Given the description of an element on the screen output the (x, y) to click on. 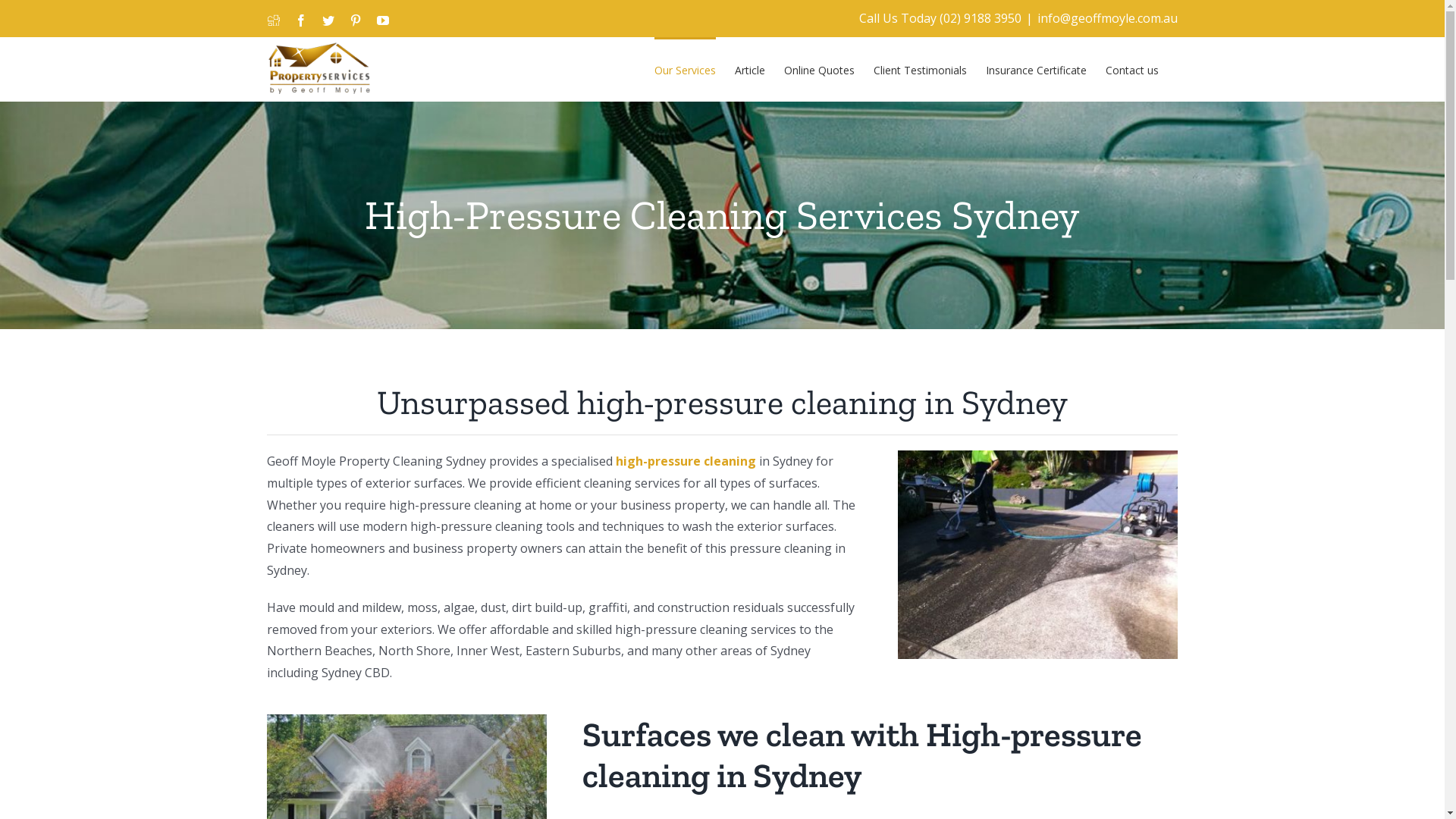
(02) 9188 3950 Element type: text (979, 17)
Pinterest Element type: text (354, 20)
Facebook Element type: text (300, 20)
pressure_cleaning_sydney Element type: hover (1036, 554)
Online Quotes Element type: text (819, 68)
Digg Element type: text (272, 20)
Twitter Element type: text (327, 20)
info@geoffmoyle.com.au Element type: text (1107, 17)
YouTube Element type: text (382, 20)
Article Element type: text (749, 68)
Insurance Certificate Element type: text (1035, 68)
Our Services Element type: text (684, 68)
high-pressure cleaning Element type: text (685, 460)
Contact us Element type: text (1131, 68)
Client Testimonials Element type: text (919, 68)
